Given the description of an element on the screen output the (x, y) to click on. 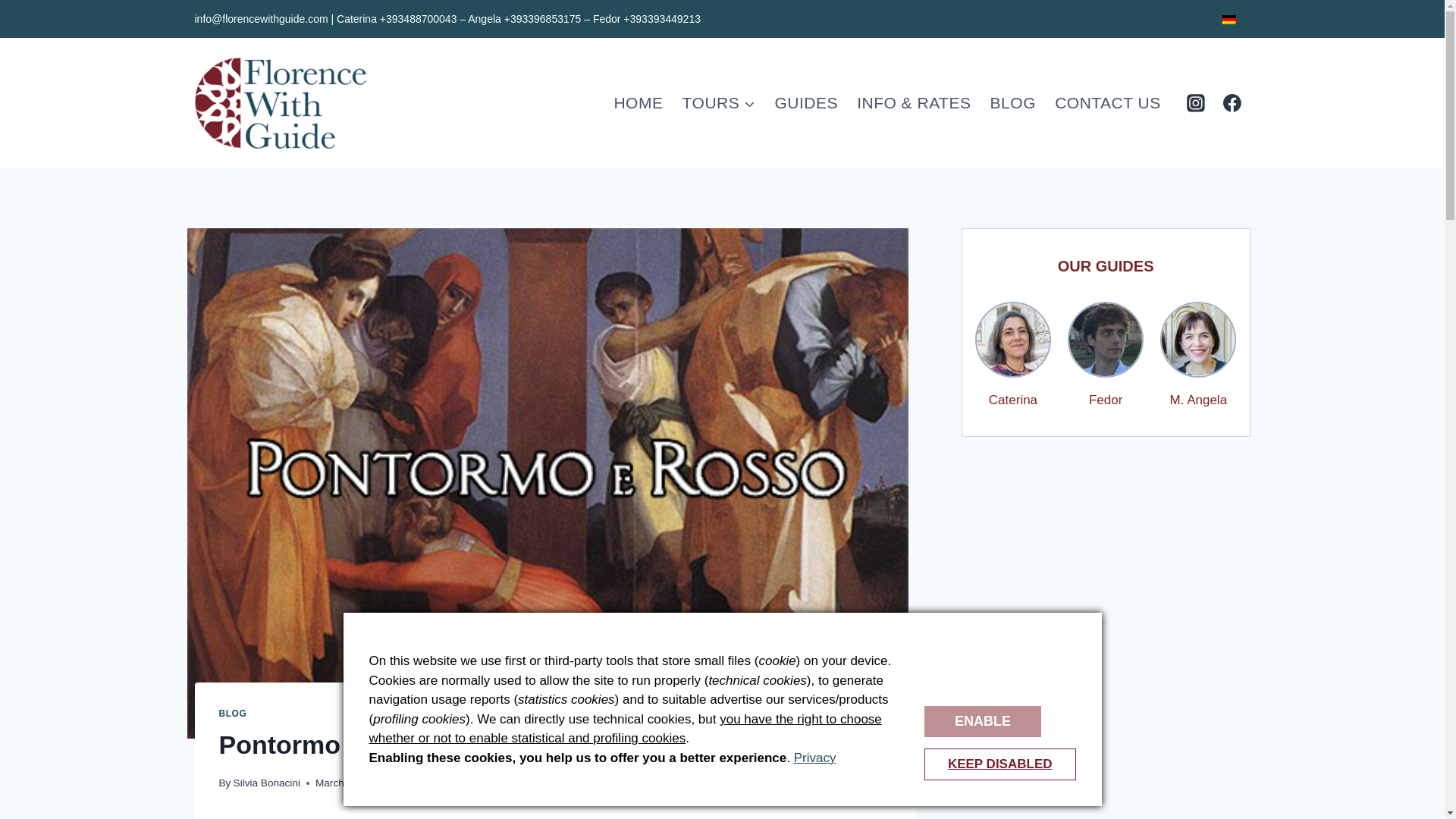
TOURS (718, 102)
BLOG (1012, 102)
Silvia Bonacini (265, 782)
HOME (638, 102)
GUIDES (806, 102)
CONTACT US (1107, 102)
BLOG (232, 713)
